Given the description of an element on the screen output the (x, y) to click on. 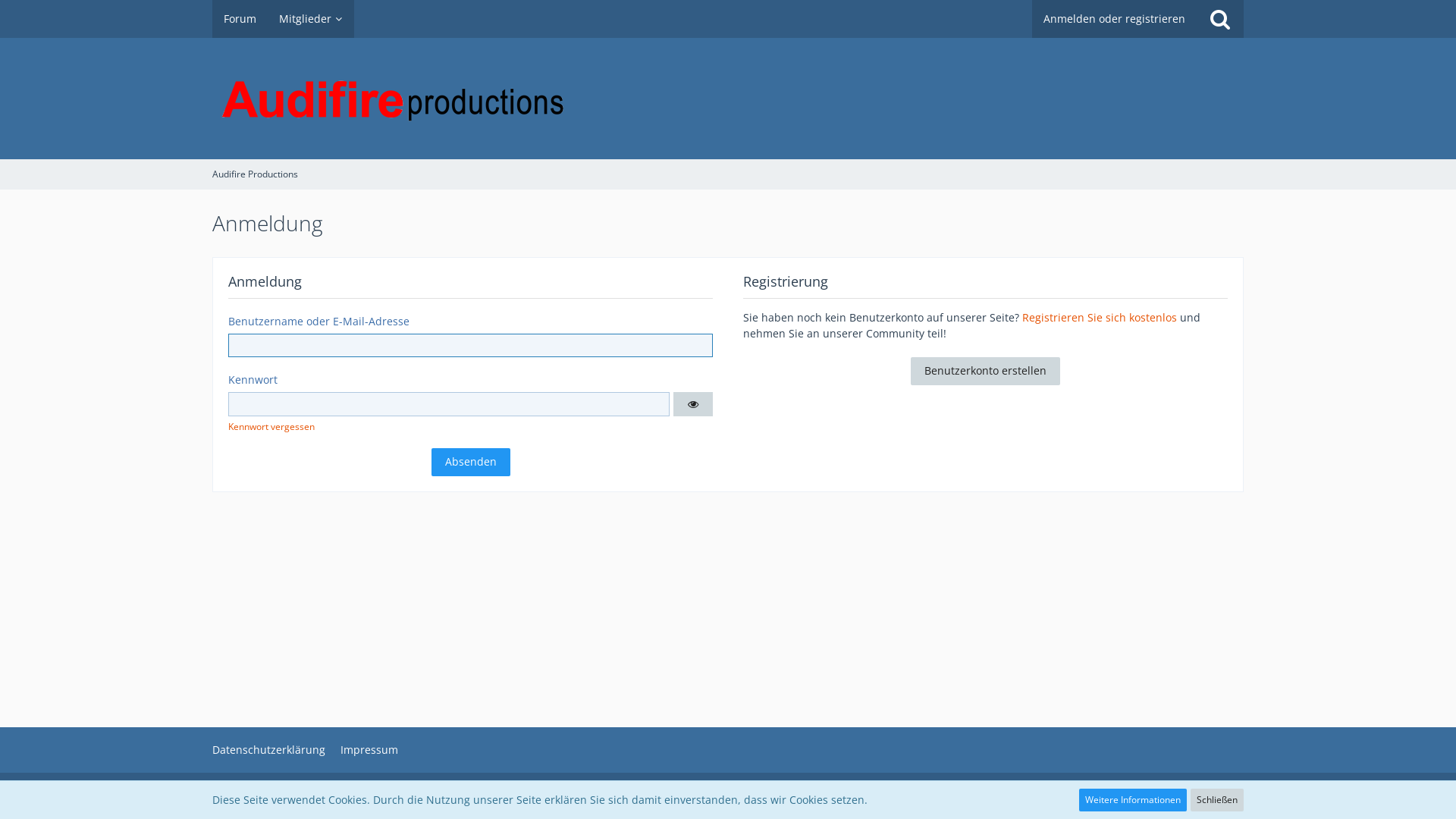
Impressum Element type: text (369, 749)
Audifire Productions Element type: text (255, 173)
Mitglieder Element type: text (310, 18)
Kennwort vergessen Element type: text (271, 426)
Forum Element type: text (239, 18)
Anmelden oder registrieren Element type: text (1114, 18)
Absenden Element type: text (469, 462)
Weitere Informationen Element type: text (1132, 799)
Benutzerkonto erstellen Element type: text (985, 371)
Registrieren Sie sich kostenlos Element type: text (1099, 317)
